Given the description of an element on the screen output the (x, y) to click on. 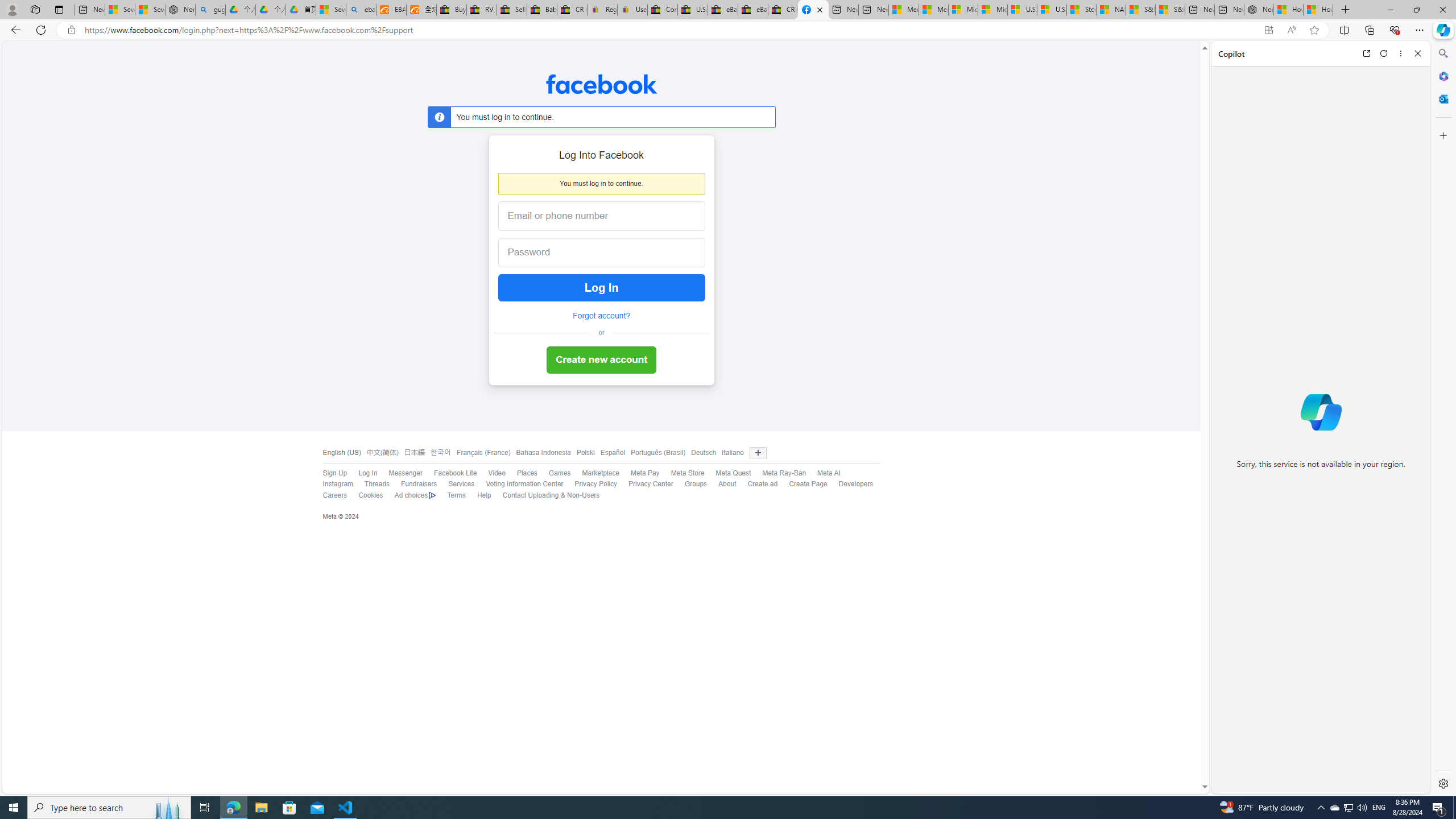
Facebook Lite (455, 473)
About (726, 483)
Instagram (337, 483)
Contact Uploading & Non-Users (550, 494)
Buy Auto Parts & Accessories | eBay (450, 9)
Sell worldwide with eBay (511, 9)
Messenger (405, 473)
Developers (855, 483)
Privacy Center (644, 484)
Developers (850, 484)
About (721, 484)
